Given the description of an element on the screen output the (x, y) to click on. 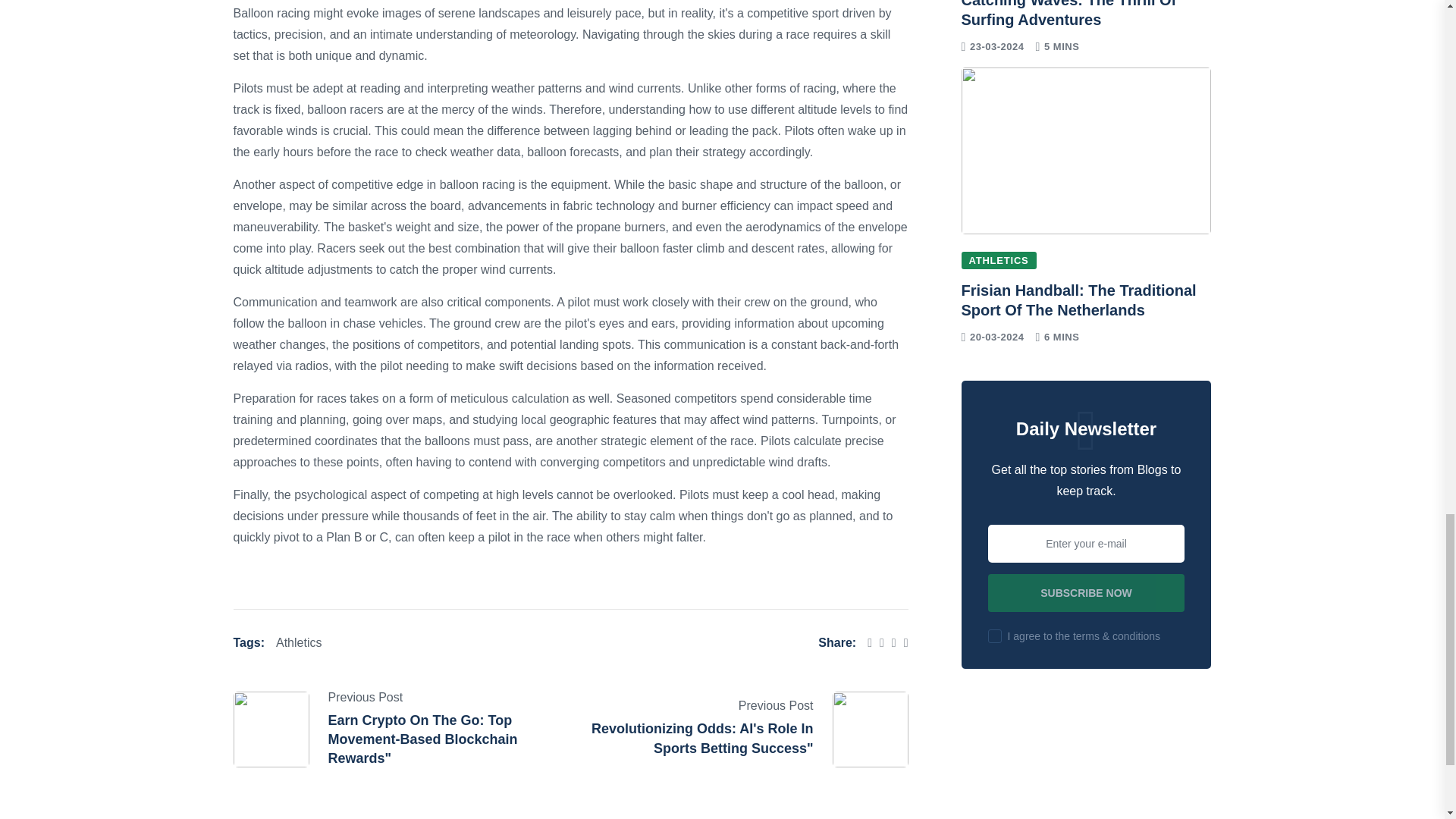
Revolutionizing Odds: AI'S Role In Sports Betting Success" (702, 738)
on (994, 635)
